Given the description of an element on the screen output the (x, y) to click on. 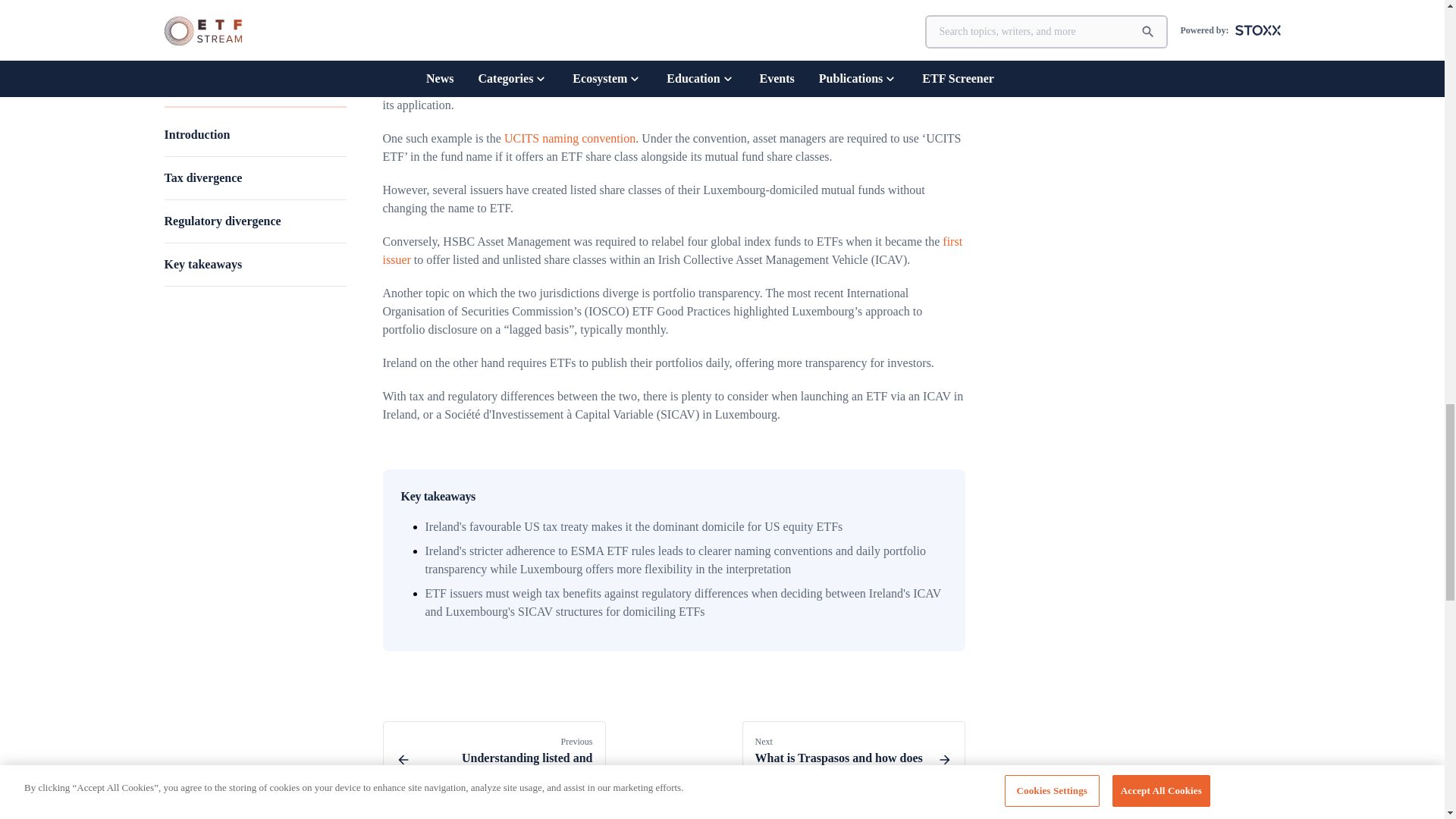
UCITS naming convention (568, 137)
3rd party ad content (852, 759)
first issuer (1139, 38)
